Given the description of an element on the screen output the (x, y) to click on. 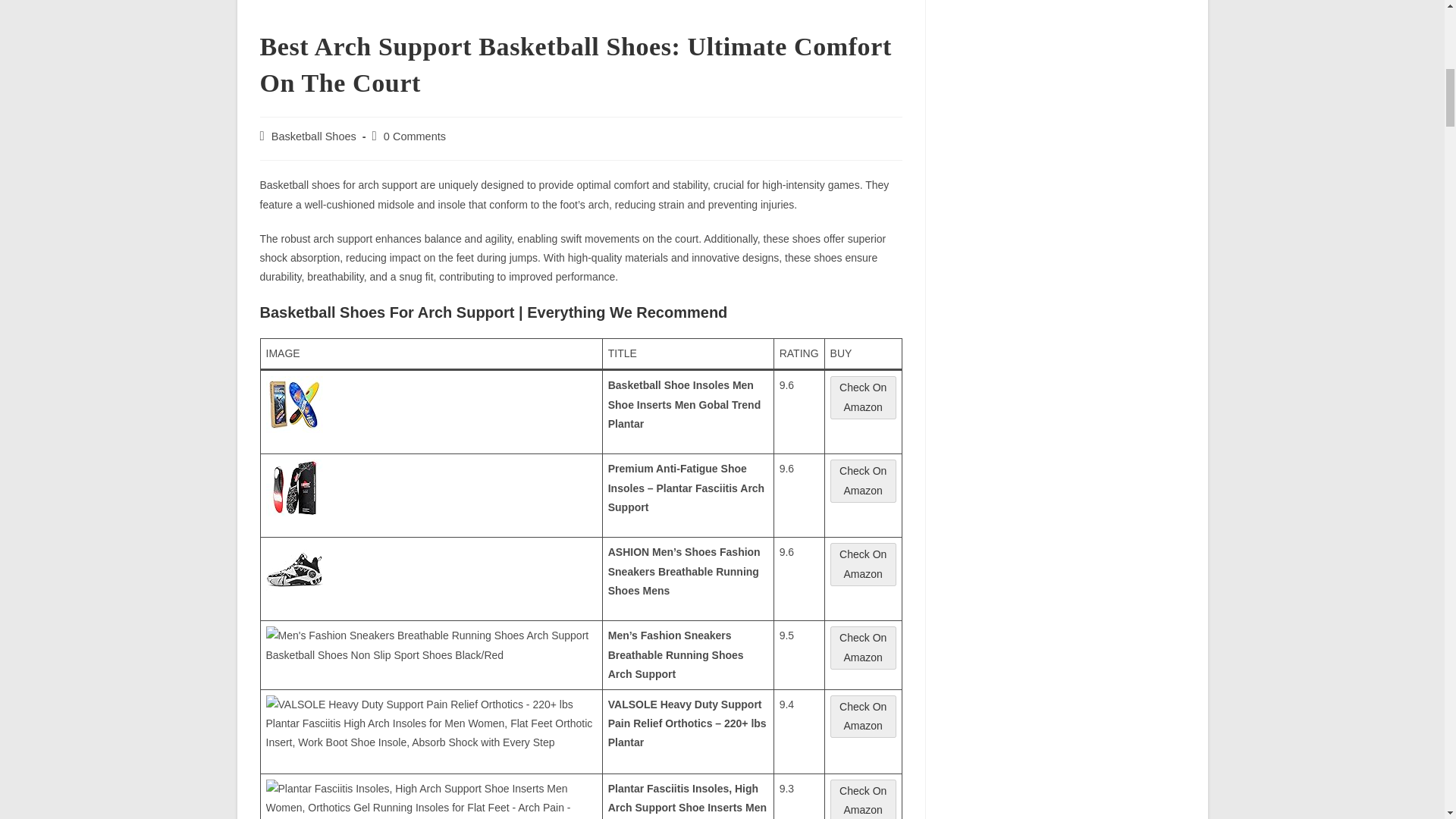
Check On Amazon (862, 657)
Check On Amazon (862, 573)
Check On Amazon (862, 396)
Check On Amazon (862, 725)
0 Comments (414, 136)
Check On Amazon (862, 809)
Check On Amazon (862, 407)
Check On Amazon (862, 563)
Check On Amazon (862, 799)
Check On Amazon (862, 490)
